Given the description of an element on the screen output the (x, y) to click on. 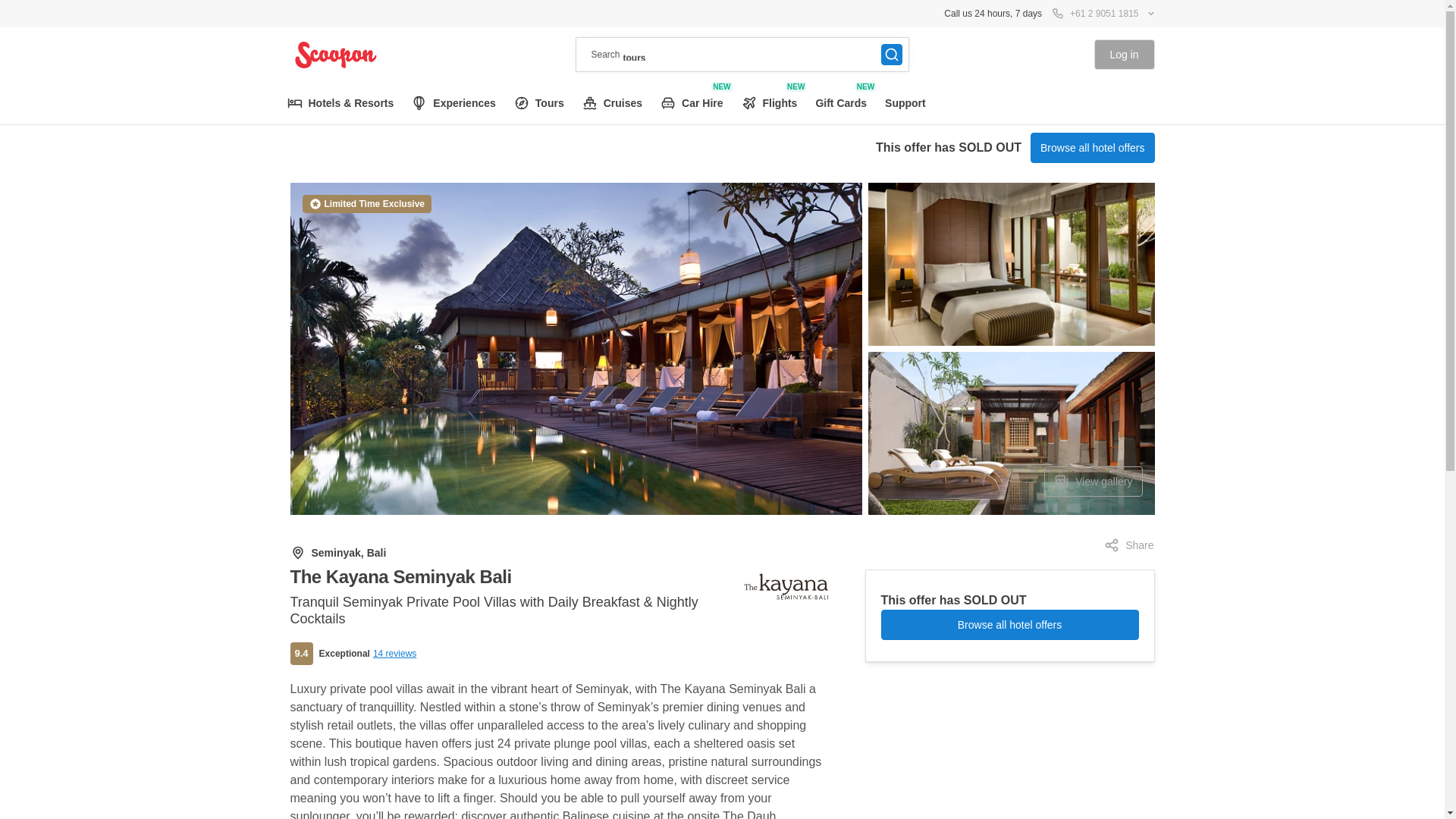
14 reviews (769, 102)
Share (691, 102)
View gallery (394, 653)
Experiences (1128, 544)
Browse all hotel offers (1092, 481)
Support (454, 102)
Tours (1092, 147)
